Given the description of an element on the screen output the (x, y) to click on. 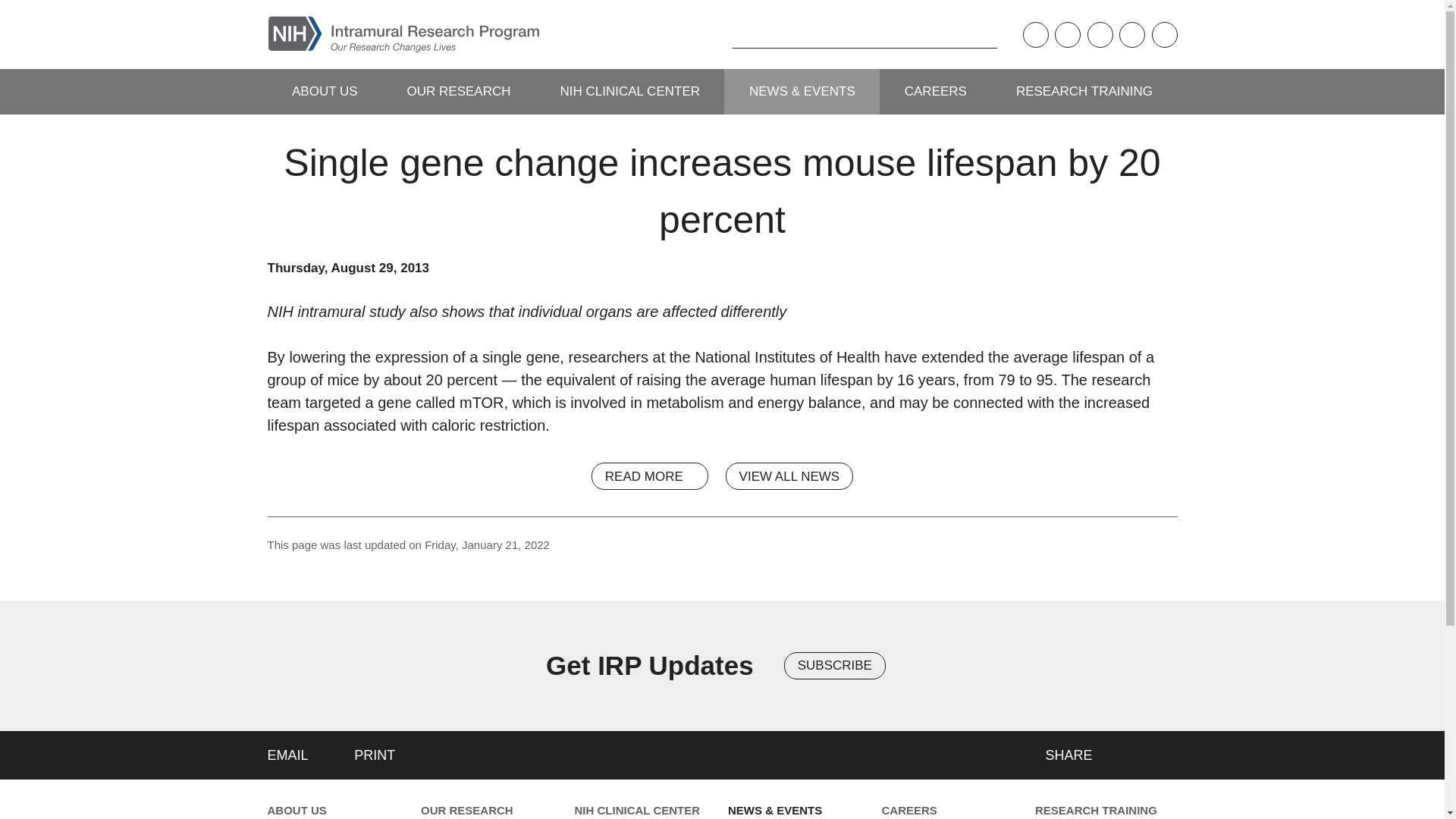
ABOUT US (323, 91)
Skip to main content (11, 11)
Podcast (1035, 34)
SEARCH (707, 34)
